Given the description of an element on the screen output the (x, y) to click on. 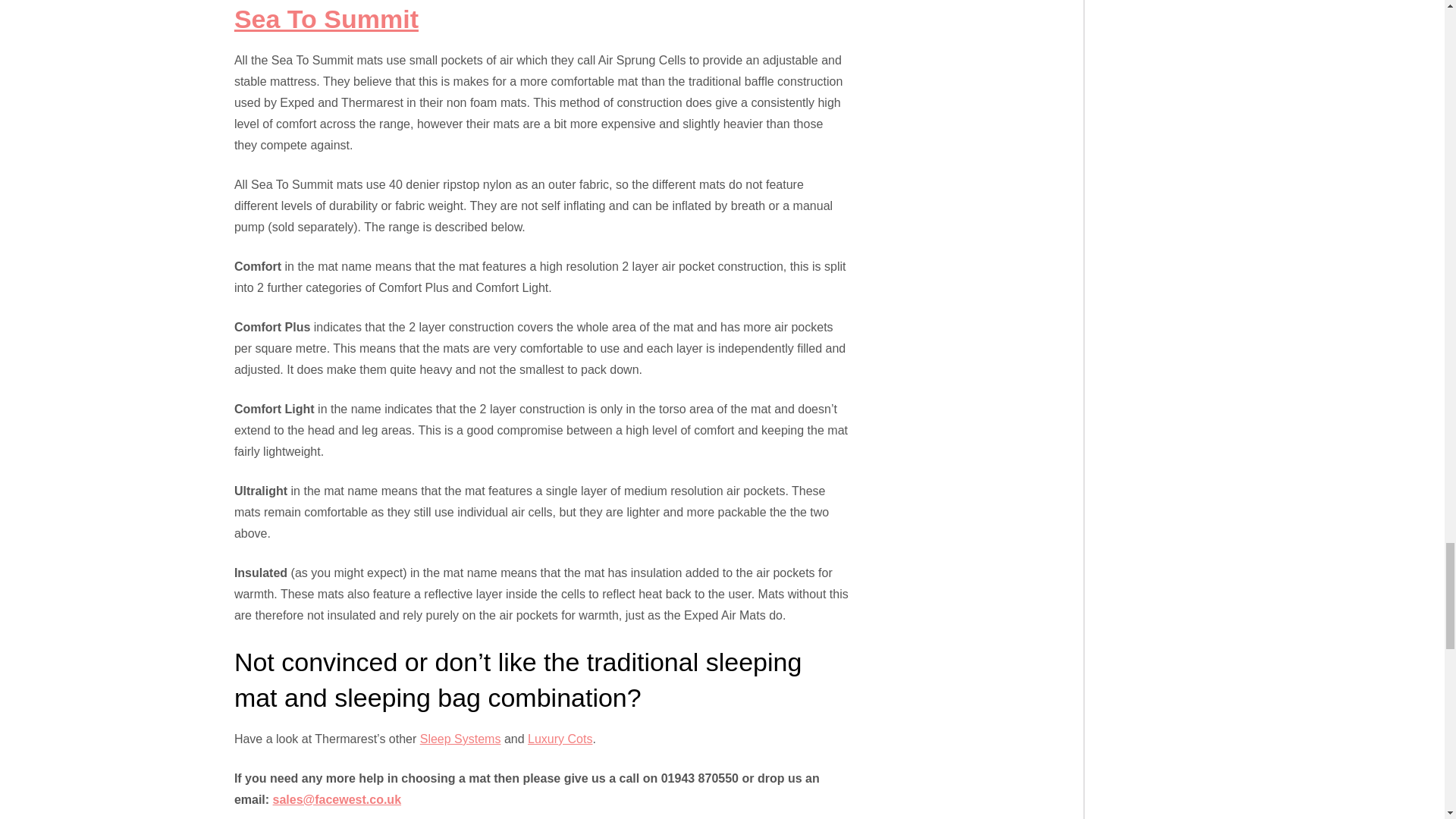
Luxury Cots (559, 738)
Sleep Systems (460, 738)
Sea To Summit (326, 18)
